Given the description of an element on the screen output the (x, y) to click on. 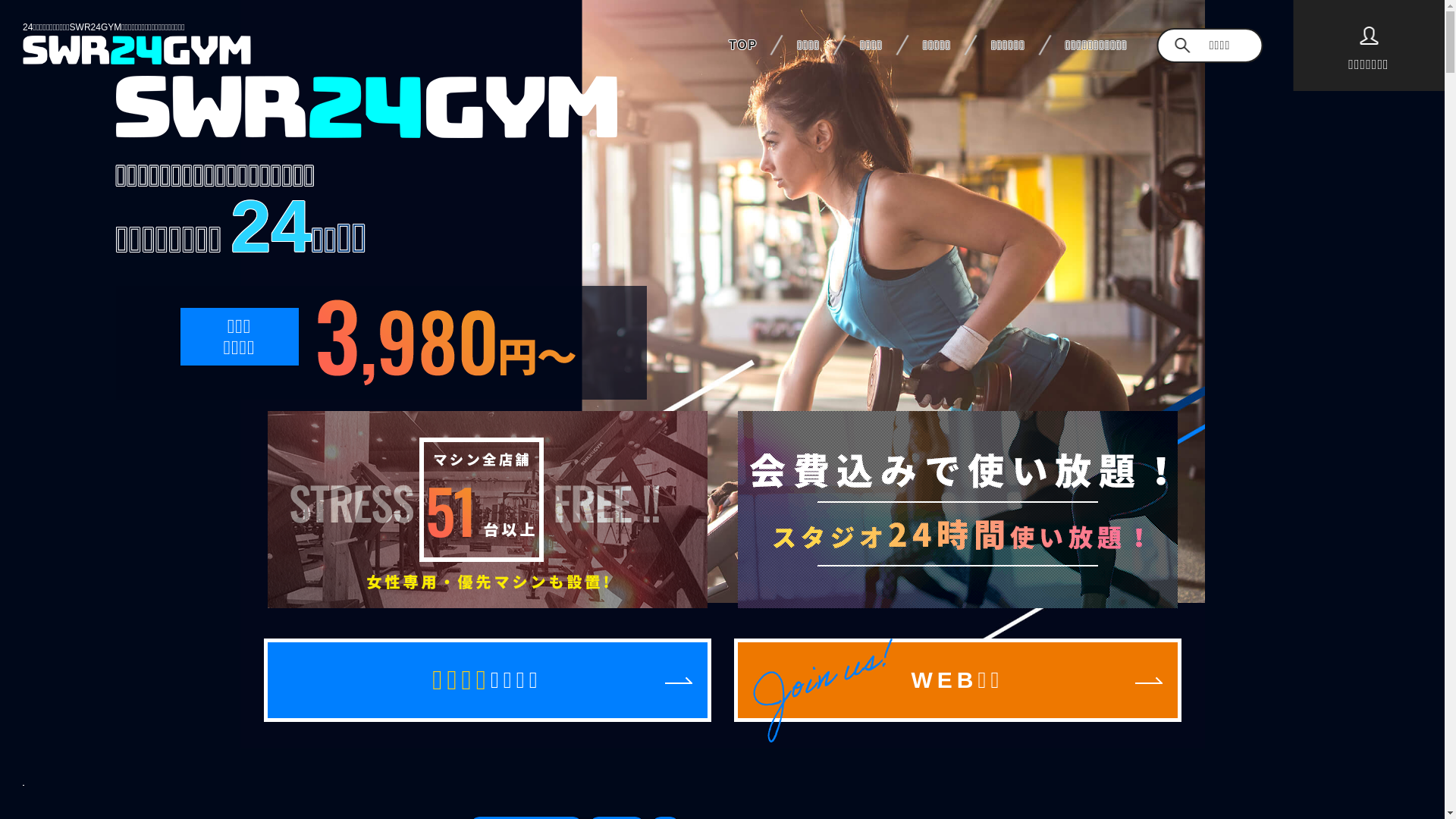
TOP Element type: text (742, 56)
